Given the description of an element on the screen output the (x, y) to click on. 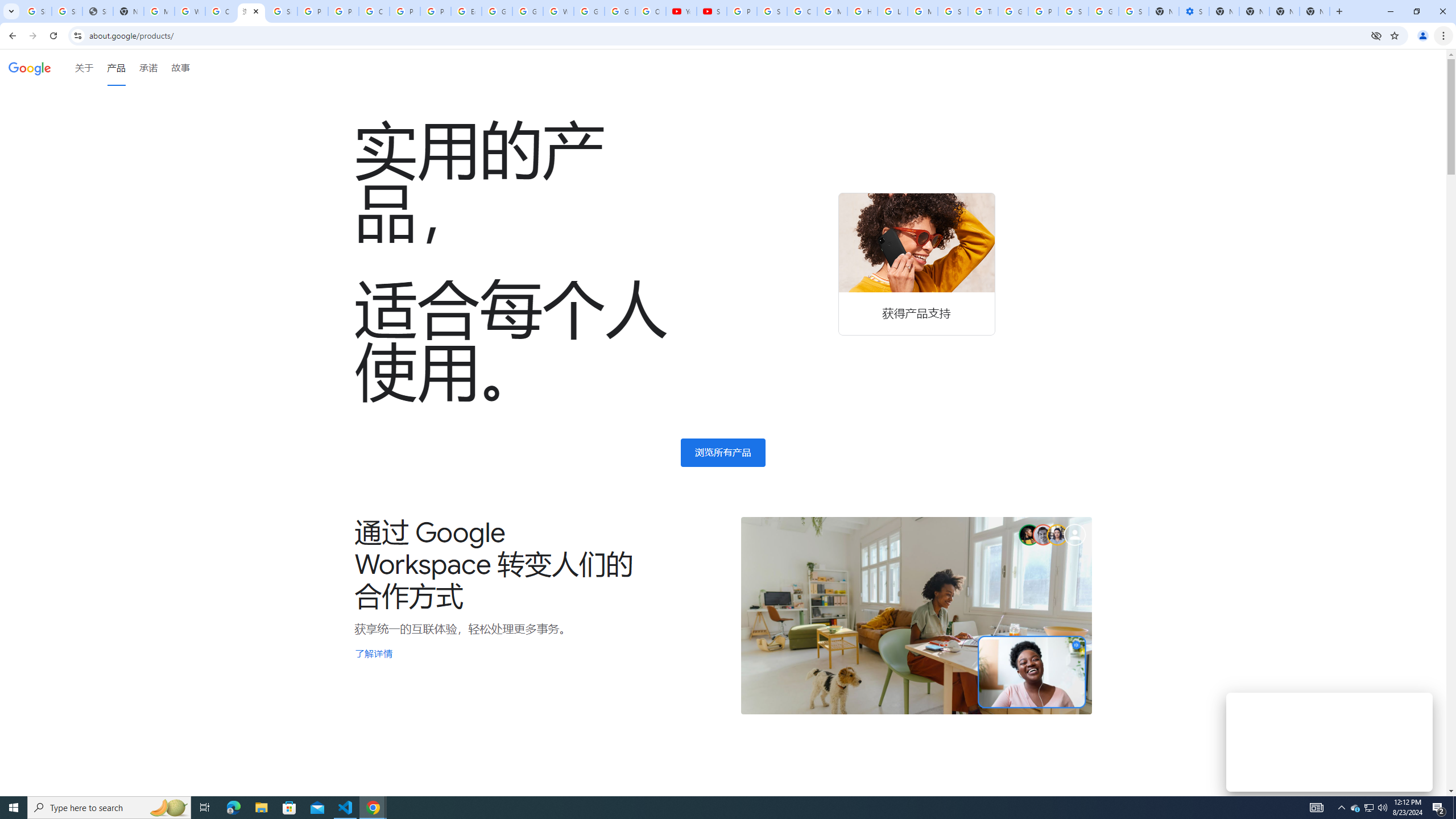
Sign in - Google Accounts (1072, 11)
Sign In - USA TODAY (97, 11)
Edit and view right-to-left text - Google Docs Editors Help (465, 11)
Sign in - Google Accounts (66, 11)
Settings - Performance (1193, 11)
YouTube (681, 11)
Google Slides: Sign-in (496, 11)
